Given the description of an element on the screen output the (x, y) to click on. 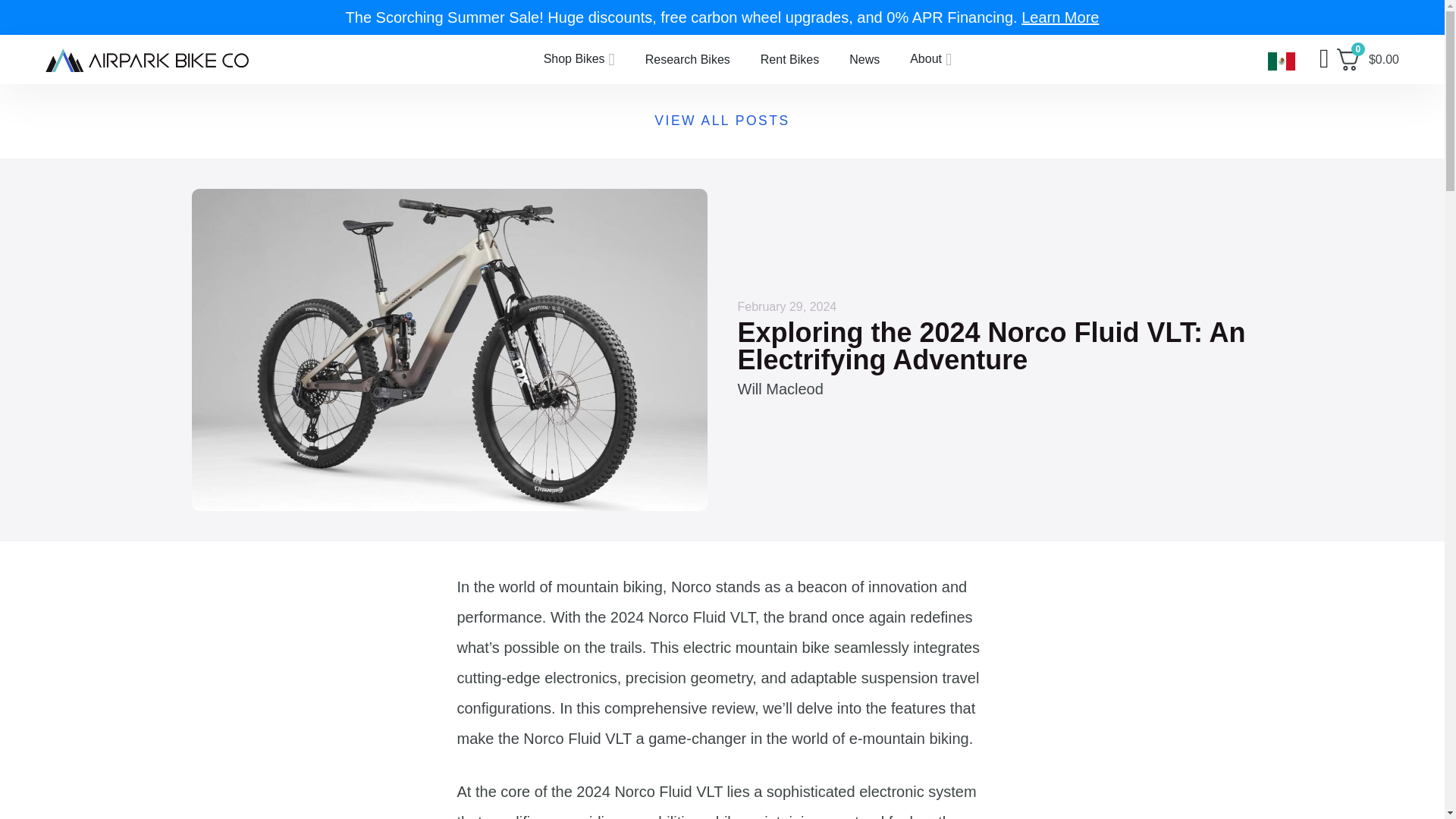
Research Bikes (687, 58)
Rent Bikes (789, 58)
About (930, 59)
News (864, 58)
Shop Bikes (579, 59)
Go Home (146, 58)
ES (1280, 61)
